Given the description of an element on the screen output the (x, y) to click on. 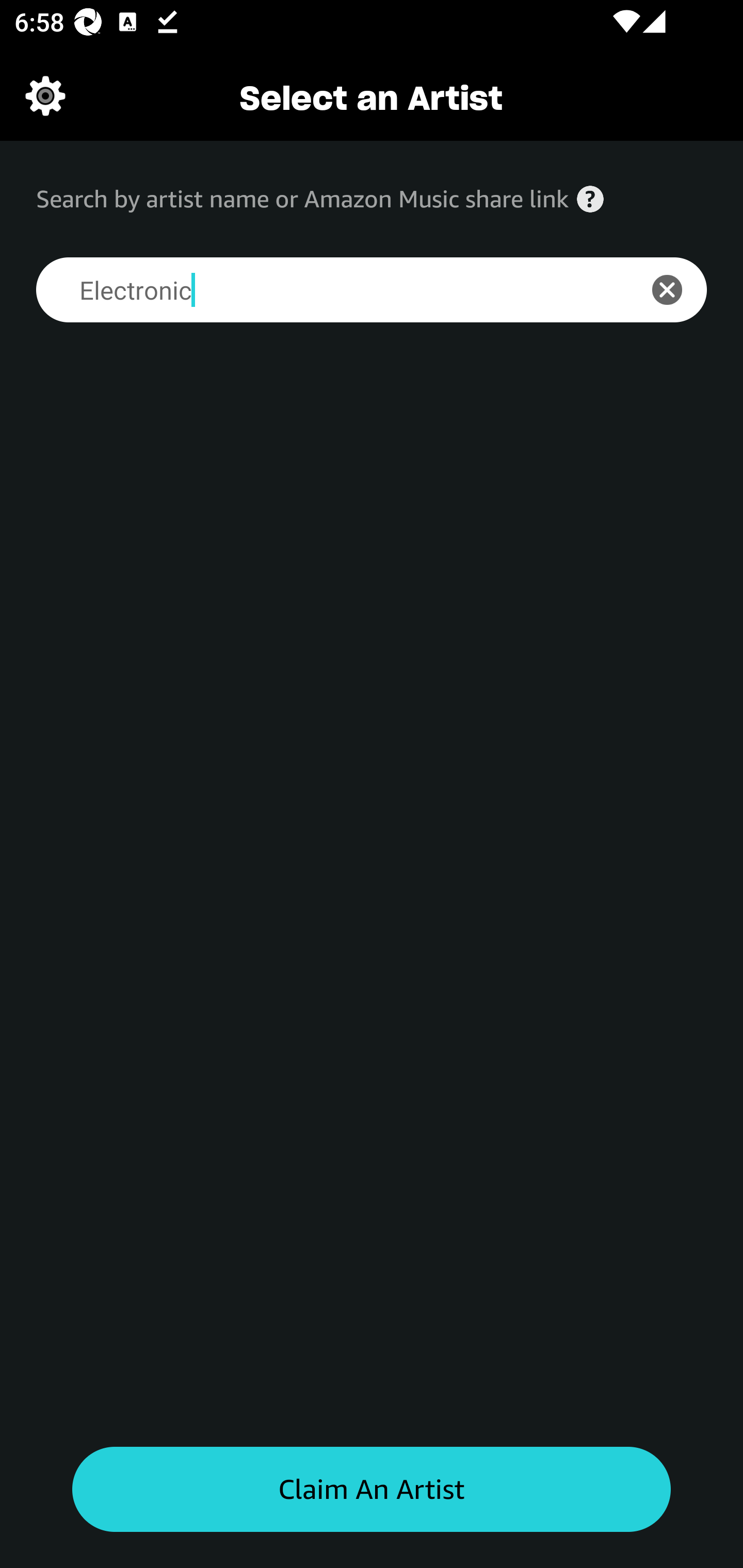
Help  icon (589, 199)
Electronic Search for an artist search bar (324, 290)
 icon (677, 290)
Claim an artist button Claim An Artist (371, 1489)
